Given the description of an element on the screen output the (x, y) to click on. 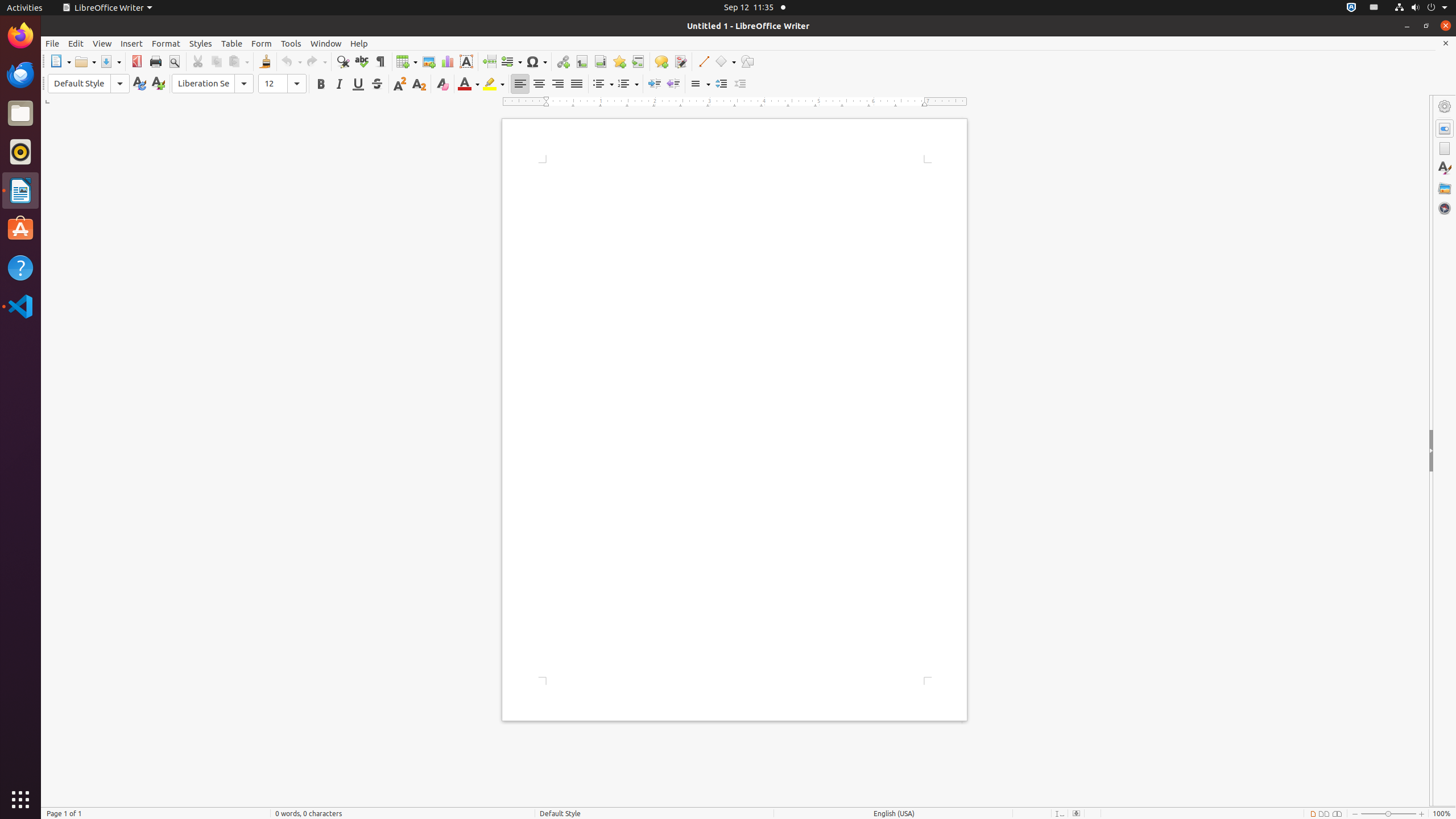
Clear Element type: push-button (441, 83)
Footnote Element type: push-button (581, 61)
Hyperlink Element type: toggle-button (562, 61)
Paragraph Style Element type: combo-box (88, 83)
Copy Element type: push-button (216, 61)
